Given the description of an element on the screen output the (x, y) to click on. 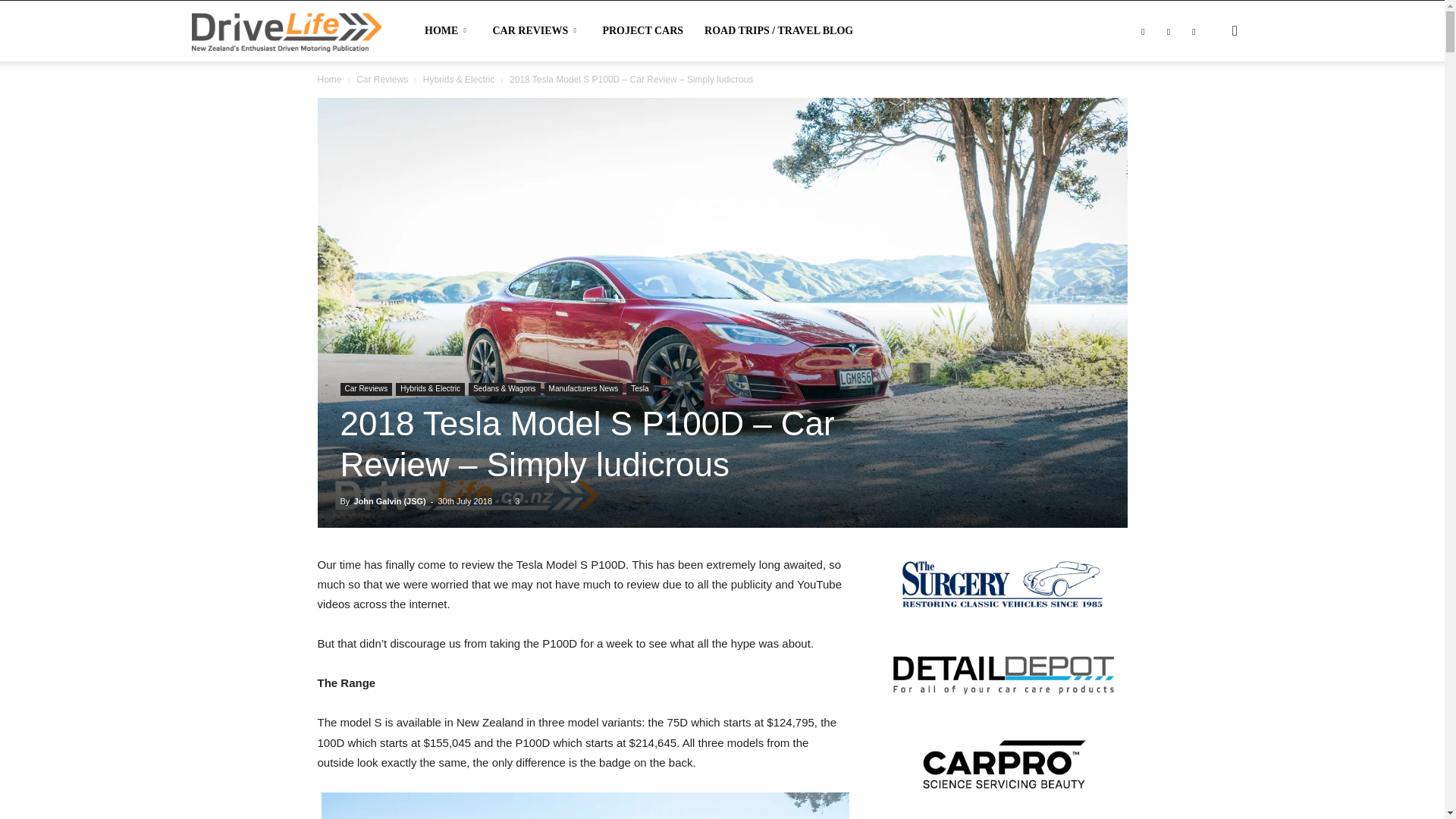
View all posts in Car Reviews (381, 79)
HOME (447, 30)
Home (328, 79)
CAR REVIEWS (536, 30)
Search (1210, 103)
Car Reviews (381, 79)
DriveLife (285, 30)
PROJECT CARS (642, 30)
